Given the description of an element on the screen output the (x, y) to click on. 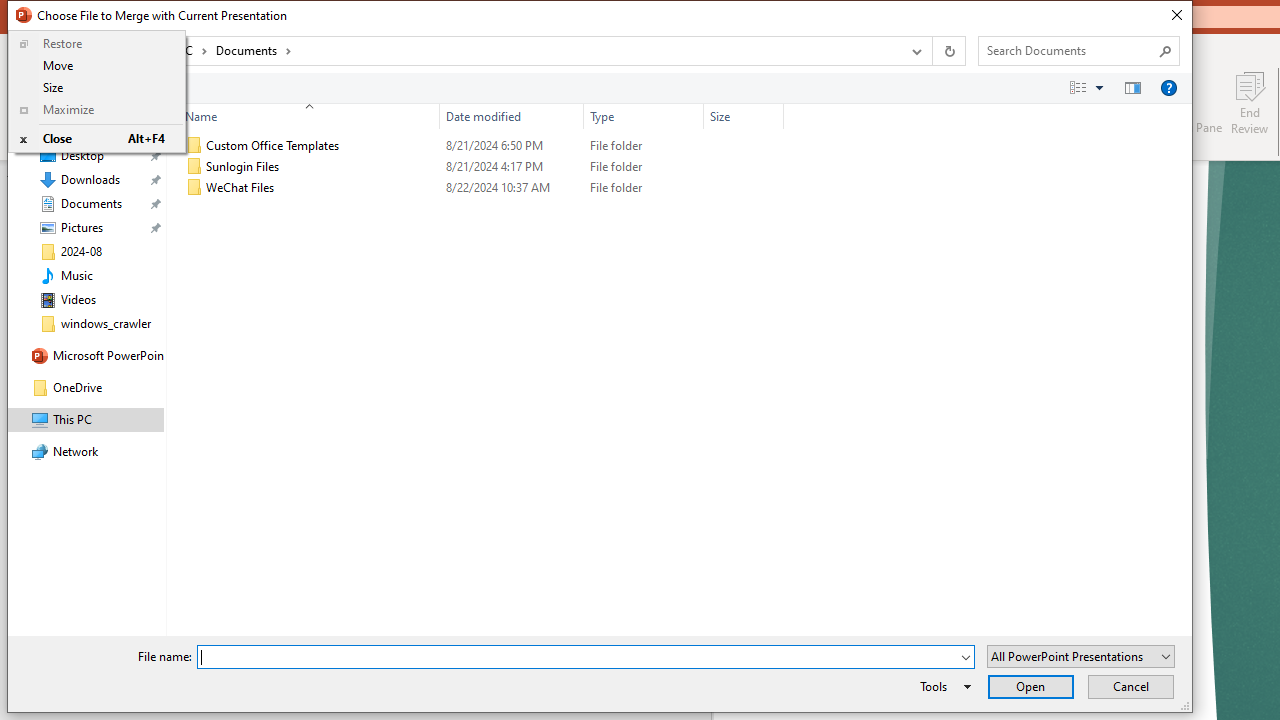
Views (1090, 87)
This PC (180, 50)
All locations (132, 50)
Date modified (511, 187)
Size (743, 115)
Command Module (599, 87)
